Given the description of an element on the screen output the (x, y) to click on. 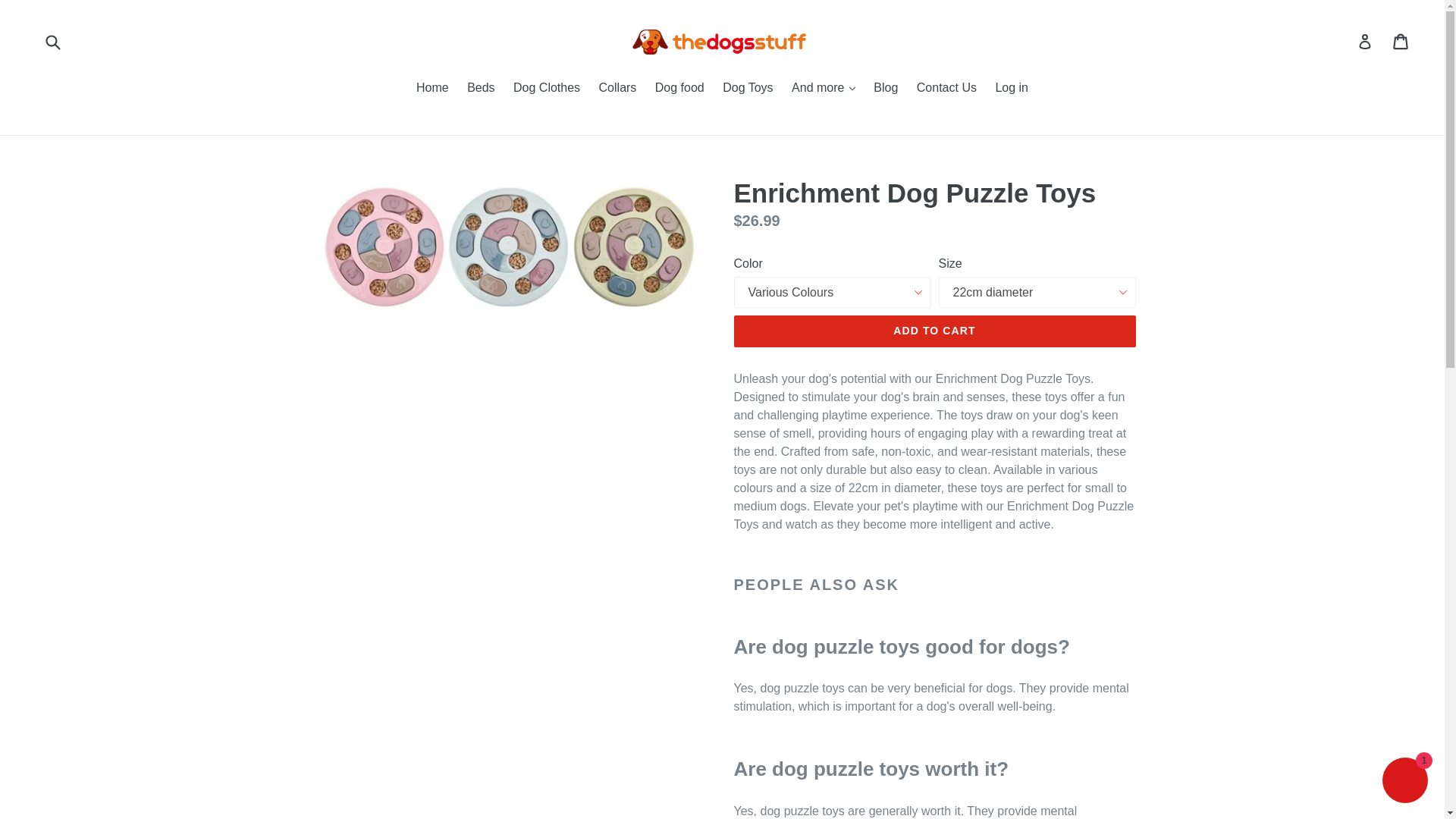
Dog Clothes (546, 88)
Shopify online store chat (1404, 781)
Beds (481, 88)
Dog food (679, 88)
Dog Toys (747, 88)
Home (433, 88)
Collars (618, 88)
